Given the description of an element on the screen output the (x, y) to click on. 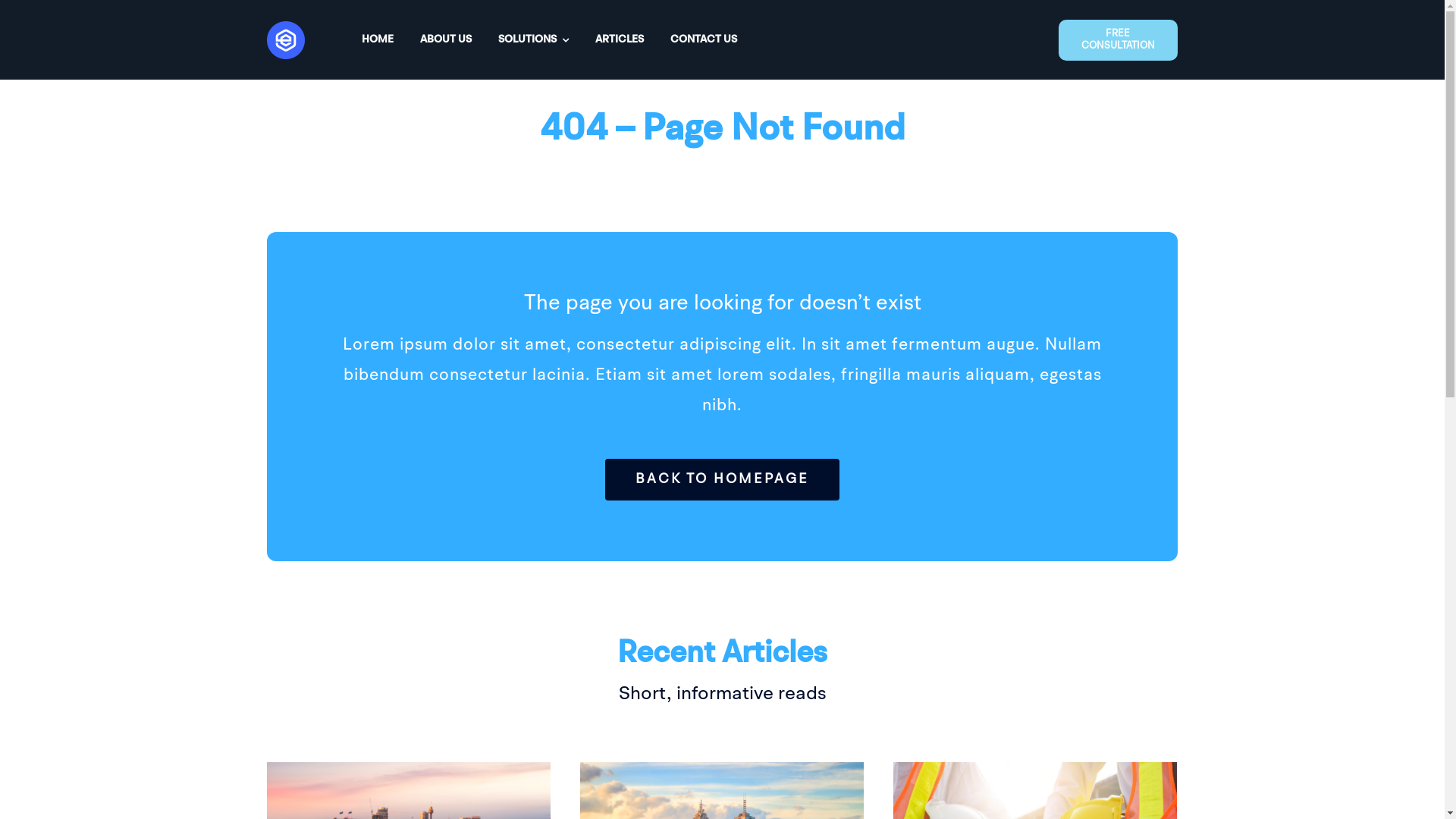
ABOUT US Element type: text (445, 39)
Asset 1Eighteen33 Element type: hover (285, 40)
HOME Element type: text (377, 39)
CONTACT US Element type: text (703, 39)
BACK TO HOMEPAGE Element type: text (722, 479)
SOLUTIONS Element type: text (533, 39)
FREE CONSULTATION Element type: text (1117, 39)
ARTICLES Element type: text (619, 39)
